Given the description of an element on the screen output the (x, y) to click on. 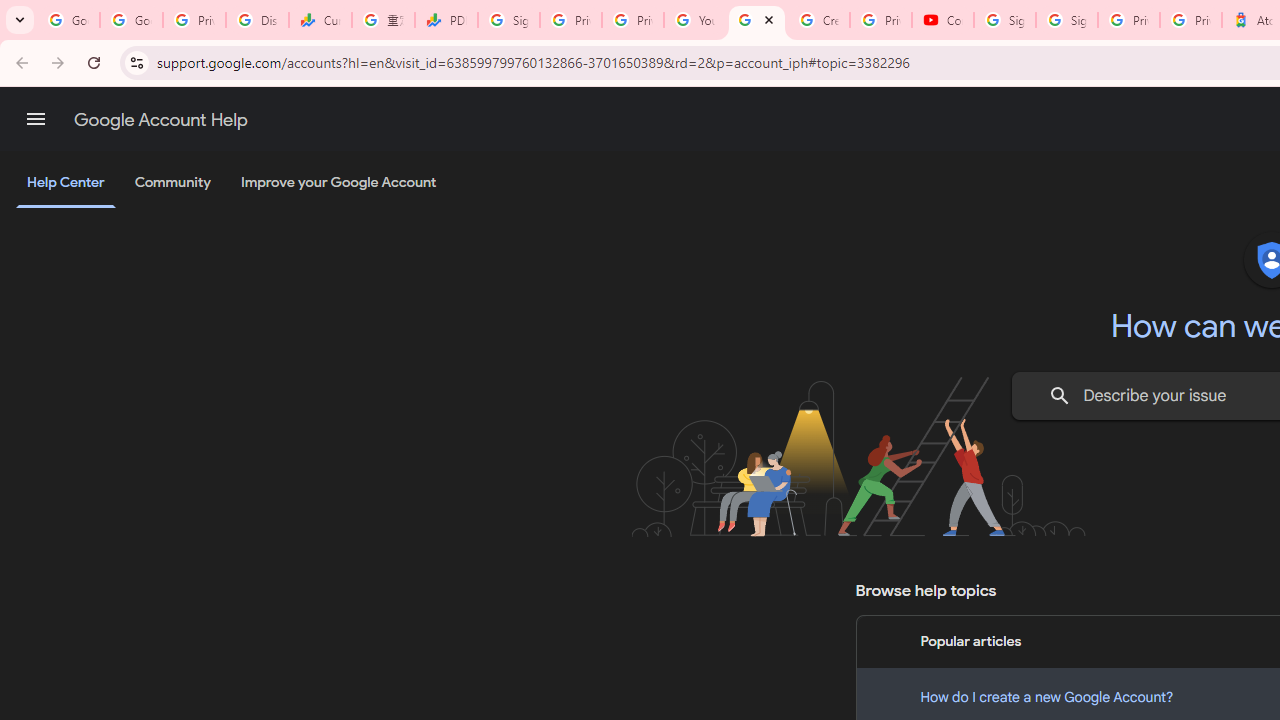
Google Workspace Admin Community (68, 20)
Google Account Help (756, 20)
Currencies - Google Finance (320, 20)
Sign in - Google Accounts (1066, 20)
